Given the description of an element on the screen output the (x, y) to click on. 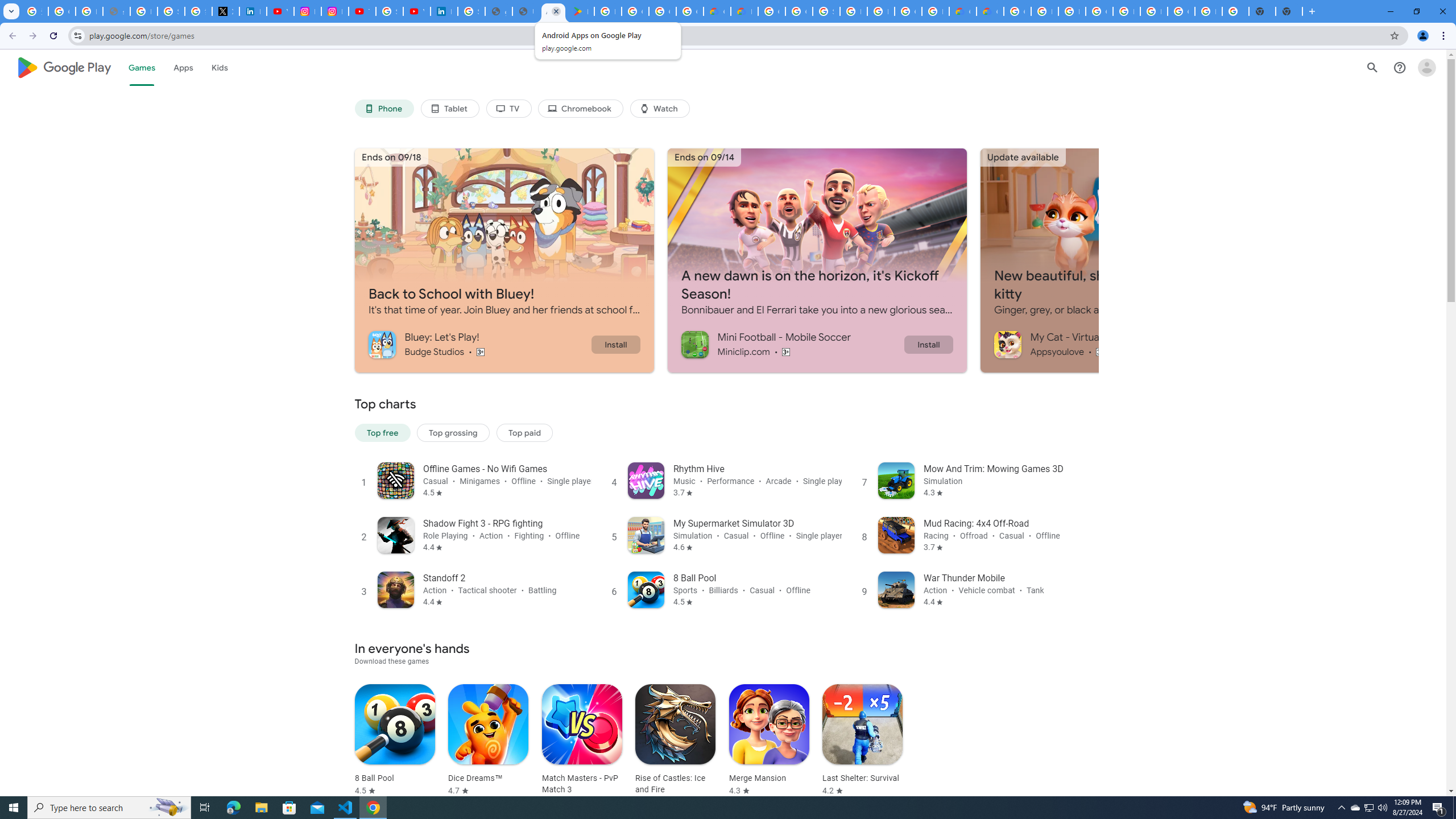
New Tab (1289, 11)
google_privacy_policy_en.pdf (498, 11)
Search (1372, 67)
Help Center (1399, 67)
Google Workspace - Specific Terms (662, 11)
Merge Mansion Rated 4.3 stars out of five stars (768, 739)
Last Shelter: Survival Rated 4.2 stars out of five stars (862, 739)
Customer Care | Google Cloud (962, 11)
